Given the description of an element on the screen output the (x, y) to click on. 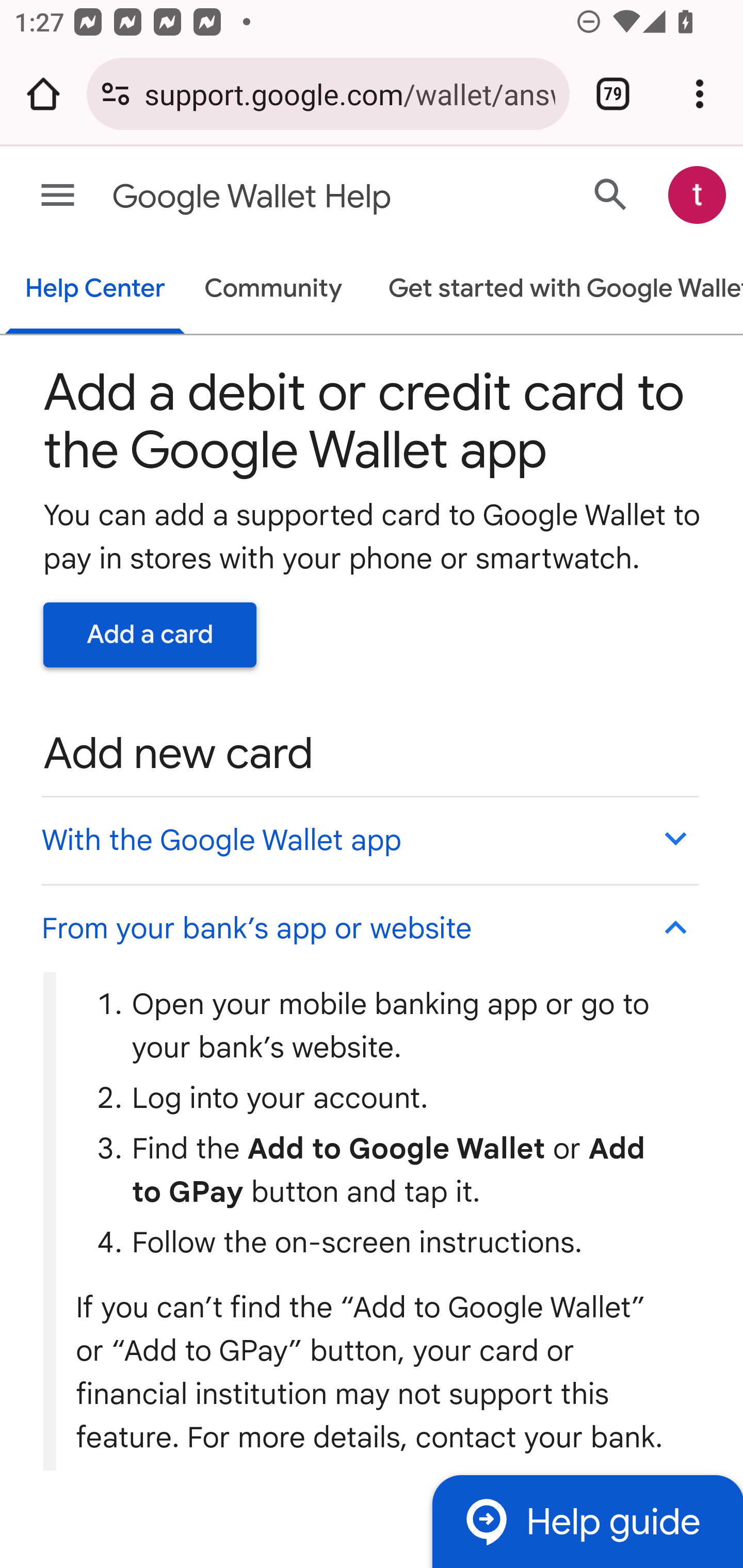
Open the home page (43, 93)
Connection is secure (115, 93)
Switch or close tabs (612, 93)
Customize and control Google Chrome (699, 93)
Main menu (58, 195)
Google Wallet Help (292, 197)
Search Help Center (611, 194)
Help Center (94, 289)
Community (273, 289)
Get started with Google Wallet (555, 289)
Add a card (150, 633)
With the Google Wallet app (369, 839)
From your bank’s app or website (369, 927)
Help guide (587, 1520)
